Given the description of an element on the screen output the (x, y) to click on. 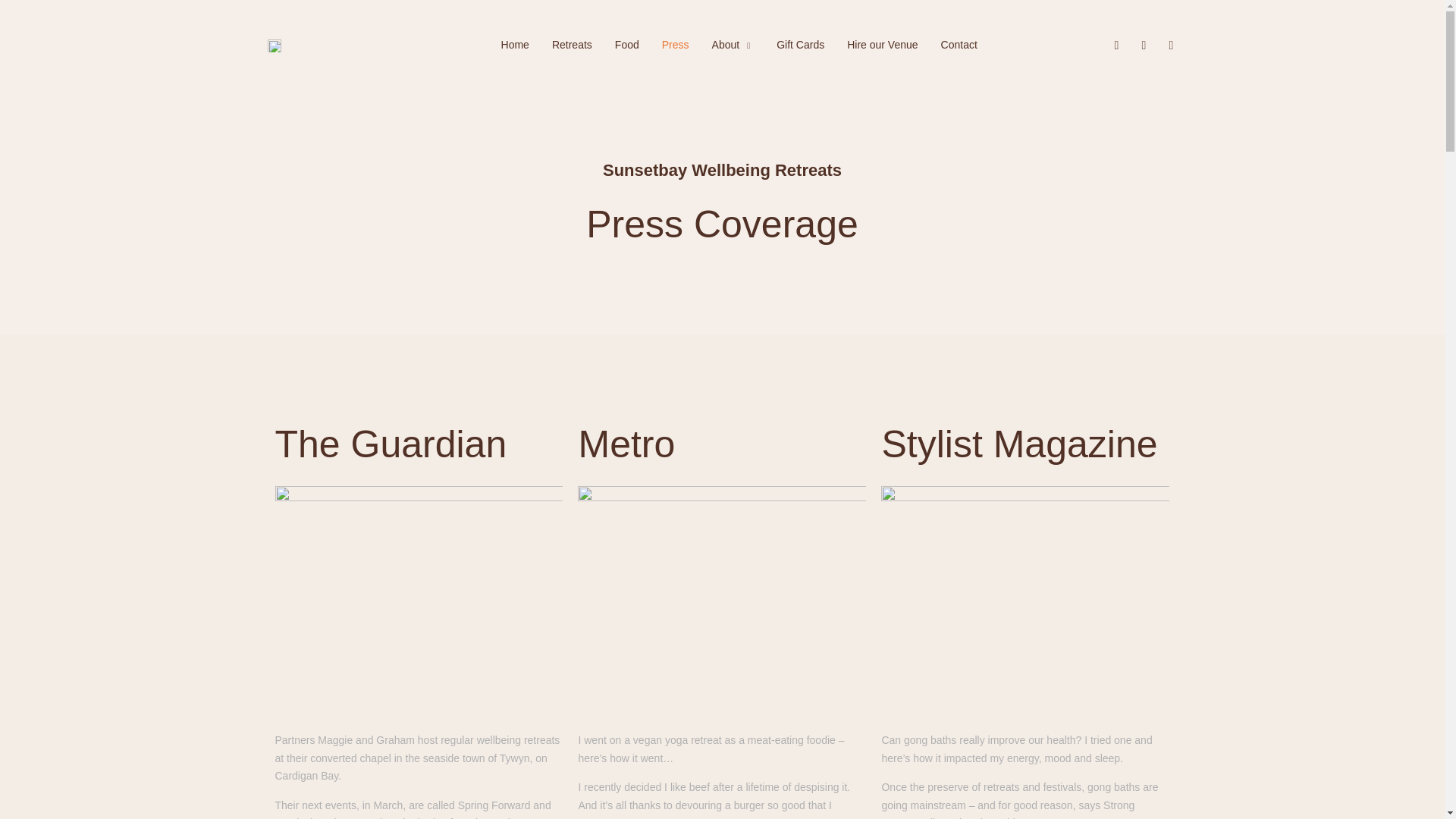
About (732, 45)
Hire our Venue (881, 45)
Sunsetbay Wellbeing Retreats (722, 170)
The Guardian (418, 443)
Retreats (572, 45)
Gift Cards (800, 45)
Metro (722, 443)
Stylist Magazine (1024, 443)
